Given the description of an element on the screen output the (x, y) to click on. 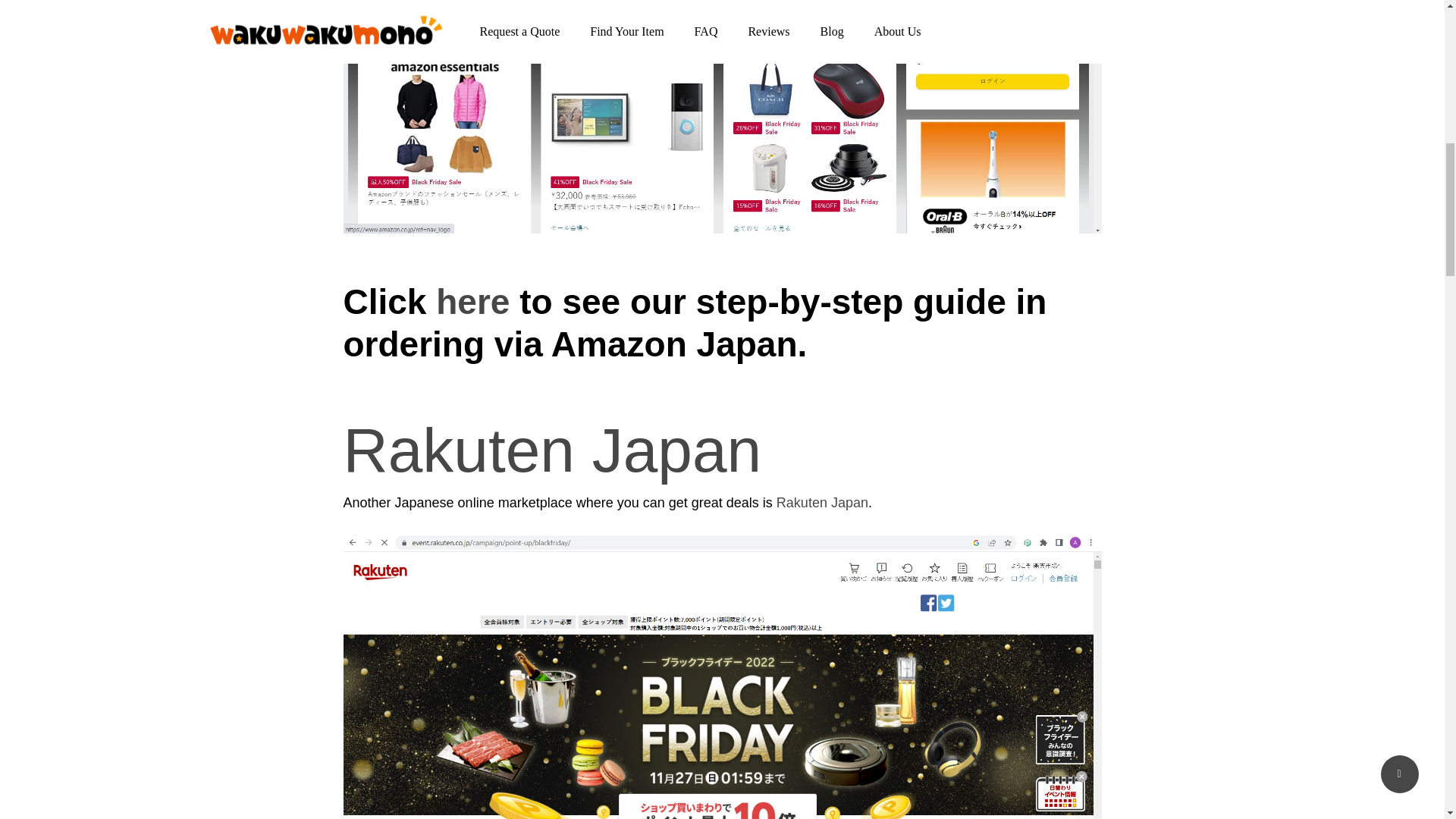
Rakuten Japan (821, 502)
Rakuten Japan (551, 449)
here (472, 301)
